Given the description of an element on the screen output the (x, y) to click on. 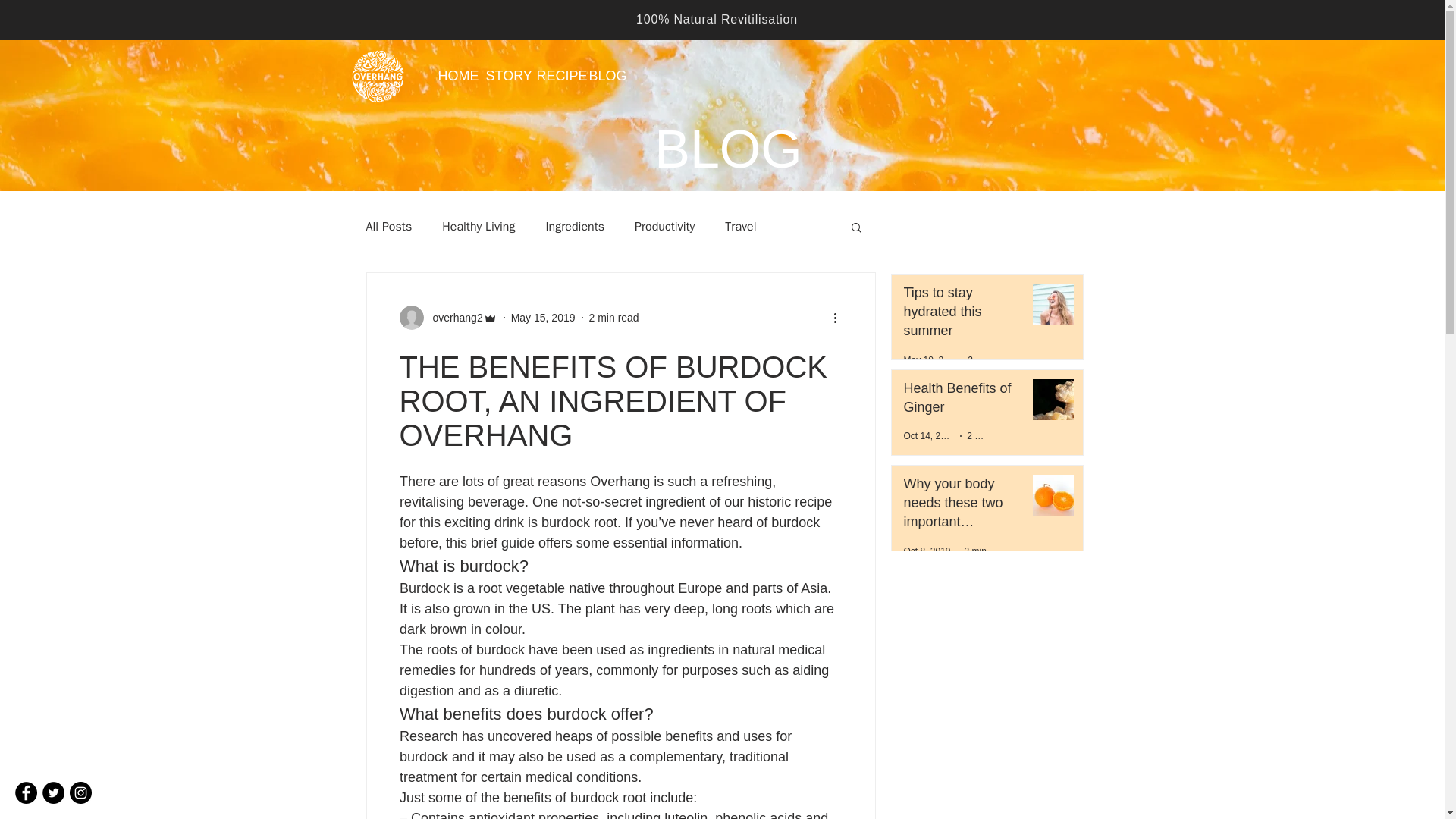
Oct 8, 2019 (927, 551)
Oct 14, 2019 (930, 435)
2 min (977, 435)
Productivity (664, 226)
All Posts (388, 226)
RECIPE (550, 75)
overhang2 (452, 317)
BLOG (600, 75)
overhang2 (447, 317)
2 min (975, 551)
Ingredients (574, 226)
HOME (450, 75)
Healthy Living (478, 226)
STORY (499, 75)
May 10, 2020 (931, 359)
